Given the description of an element on the screen output the (x, y) to click on. 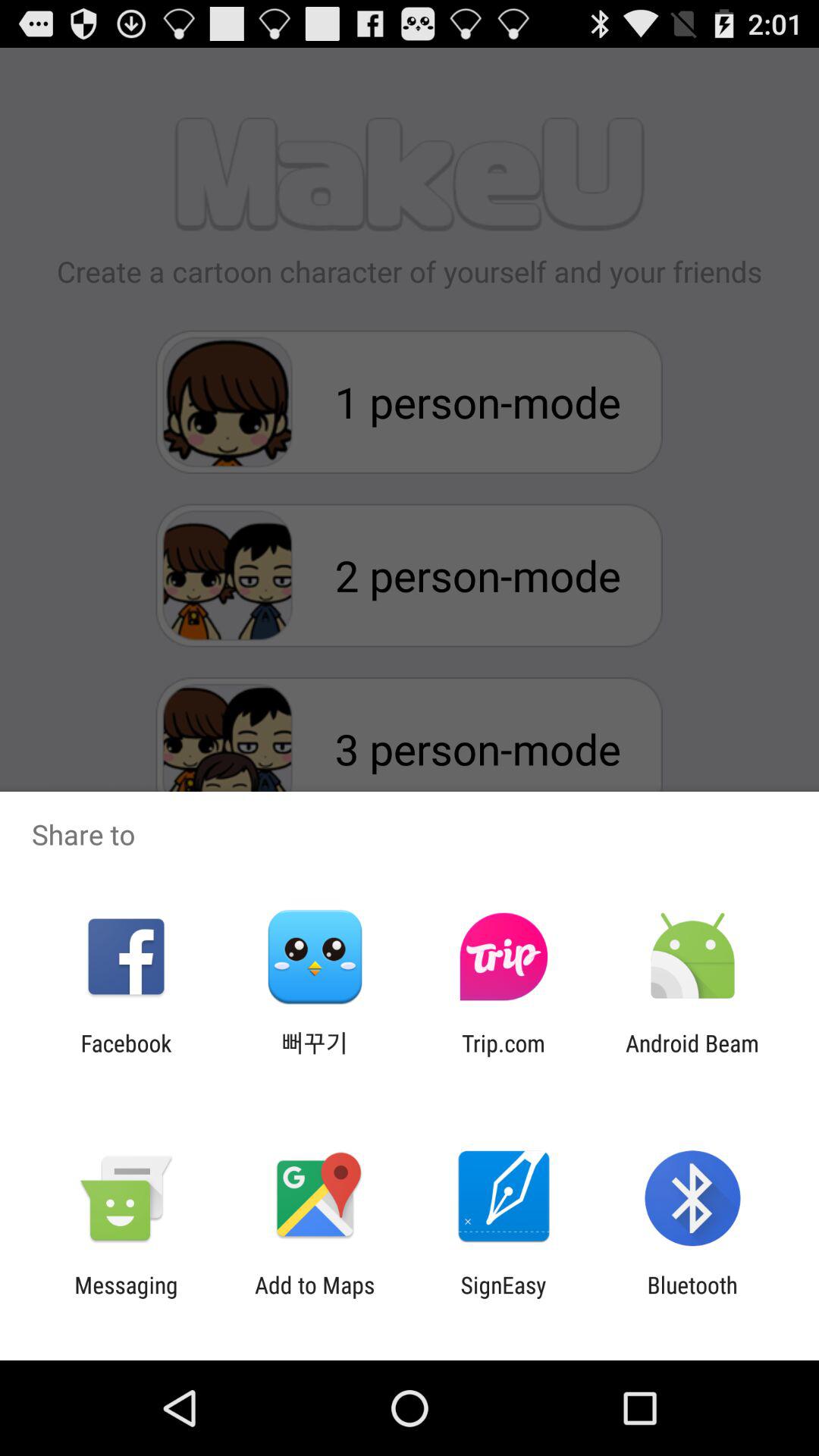
press the icon next to trip.com icon (692, 1056)
